Given the description of an element on the screen output the (x, y) to click on. 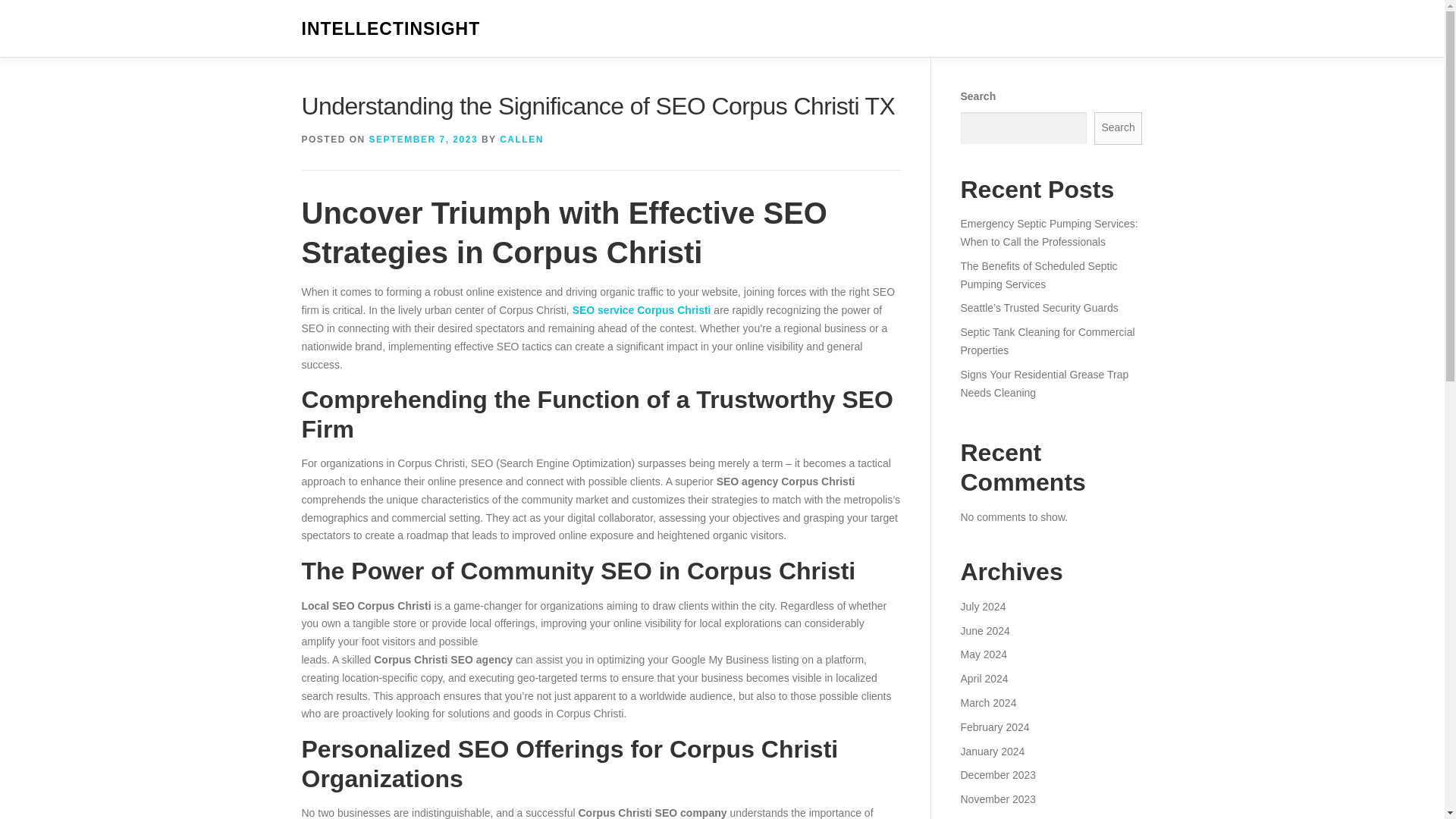
SEPTEMBER 7, 2023 (424, 139)
January 2024 (992, 750)
May 2024 (982, 654)
December 2023 (997, 775)
June 2024 (984, 630)
CALLEN (521, 139)
SEO service Corpus Christi (641, 309)
April 2024 (983, 678)
February 2024 (994, 727)
Septic Tank Cleaning for Commercial Properties (1046, 340)
INTELLECTINSIGHT (390, 29)
October 2023 (992, 818)
July 2024 (982, 606)
March 2024 (987, 702)
